Given the description of an element on the screen output the (x, y) to click on. 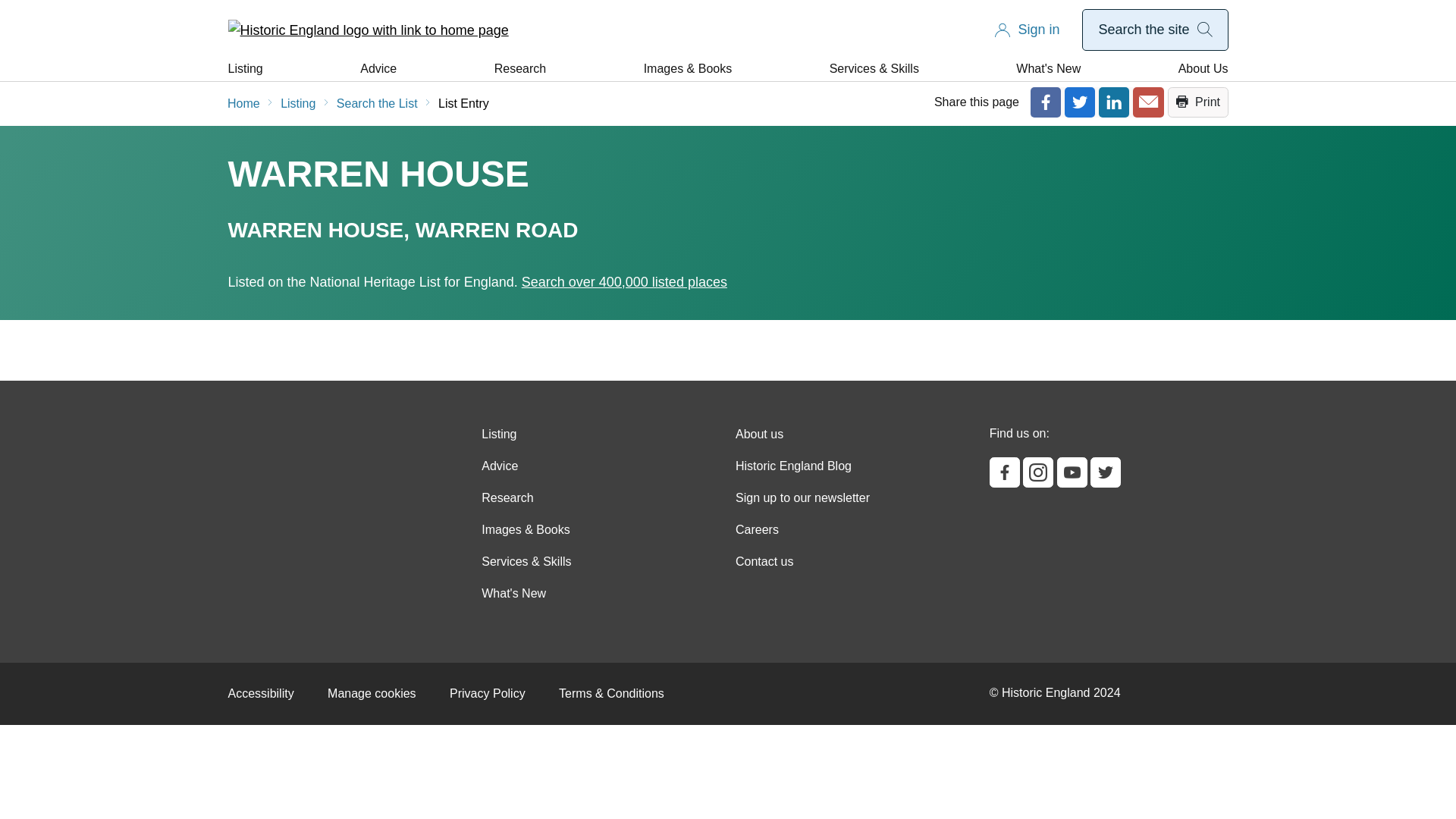
Share this page by Email (1147, 101)
Listing (244, 68)
Historic England - home page (367, 29)
What's New (1048, 68)
About Us (1202, 68)
Search Historic England (1154, 29)
Print this page (1197, 101)
Advice (377, 68)
Sign in (1038, 29)
Search the site (1154, 29)
